Given the description of an element on the screen output the (x, y) to click on. 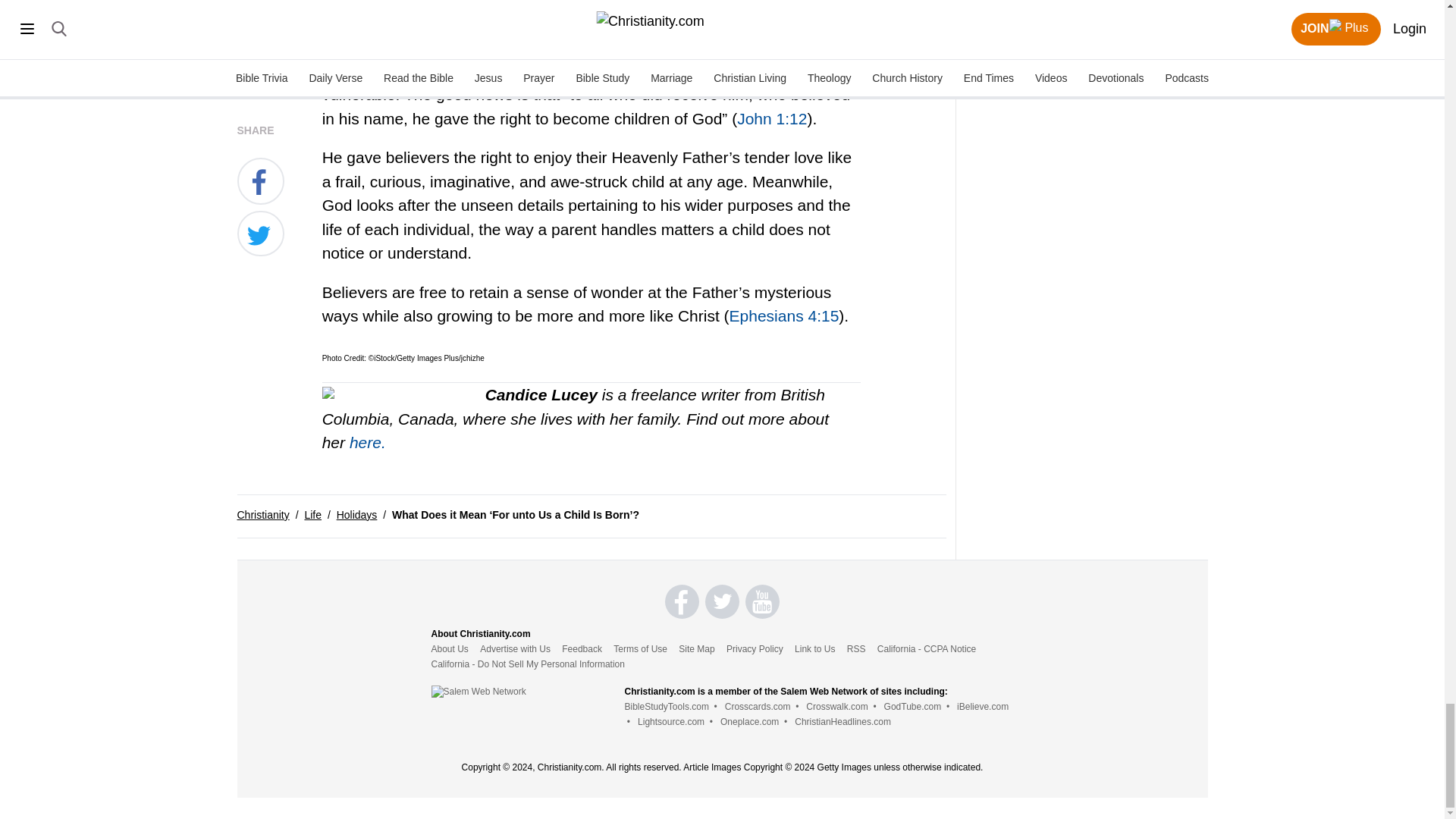
Christianity (261, 514)
Twitter (721, 601)
YouTube (761, 601)
Facebook (681, 601)
